Given the description of an element on the screen output the (x, y) to click on. 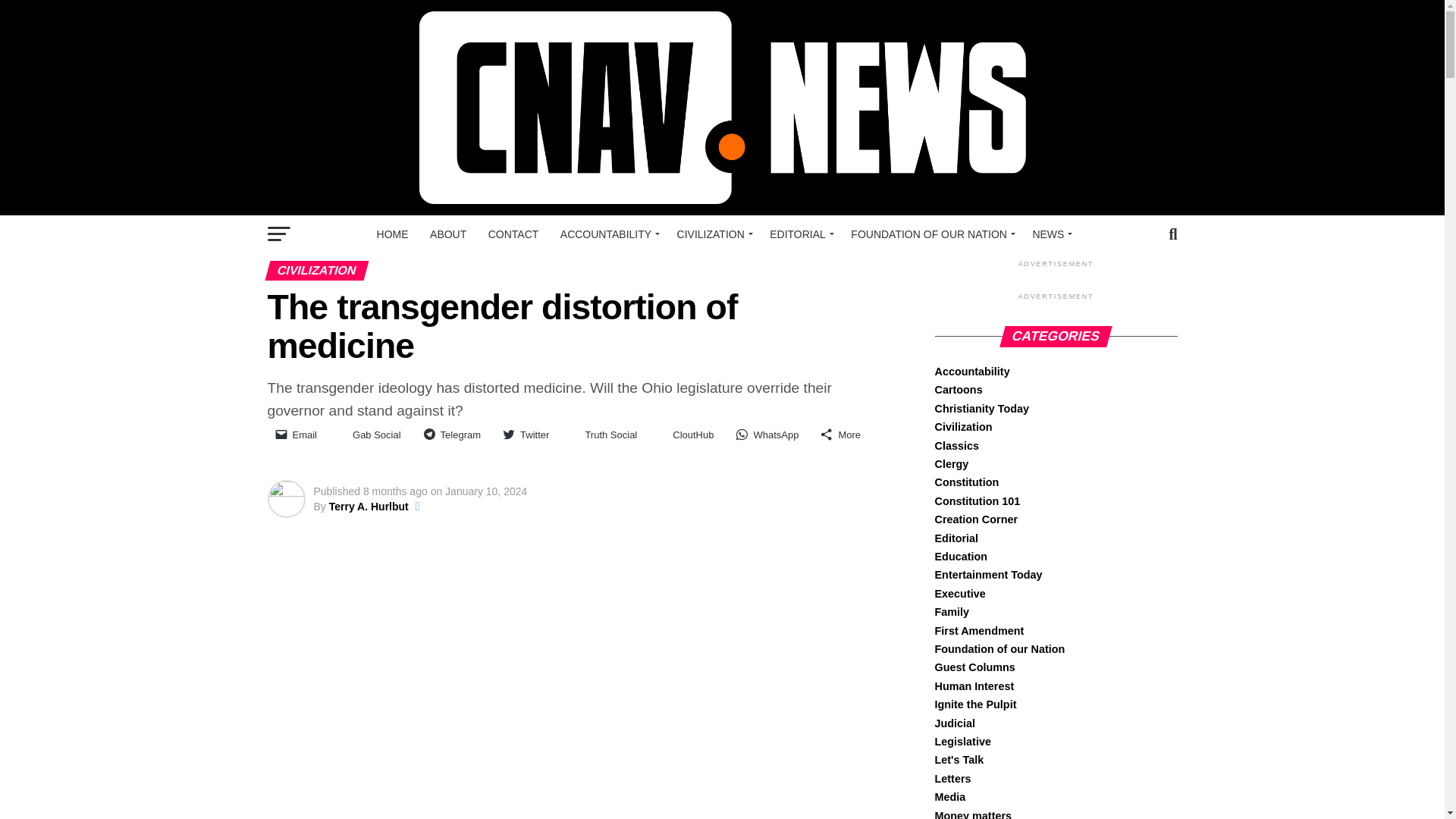
Click to share on Gab Social (370, 435)
Click to share on Twitter (526, 434)
Click to share on Telegram (451, 434)
Click to share on CloutHub (686, 435)
Click to share on WhatsApp (767, 434)
Click to share on Truth Social (604, 435)
Click to email a link to a friend (295, 434)
